Given the description of an element on the screen output the (x, y) to click on. 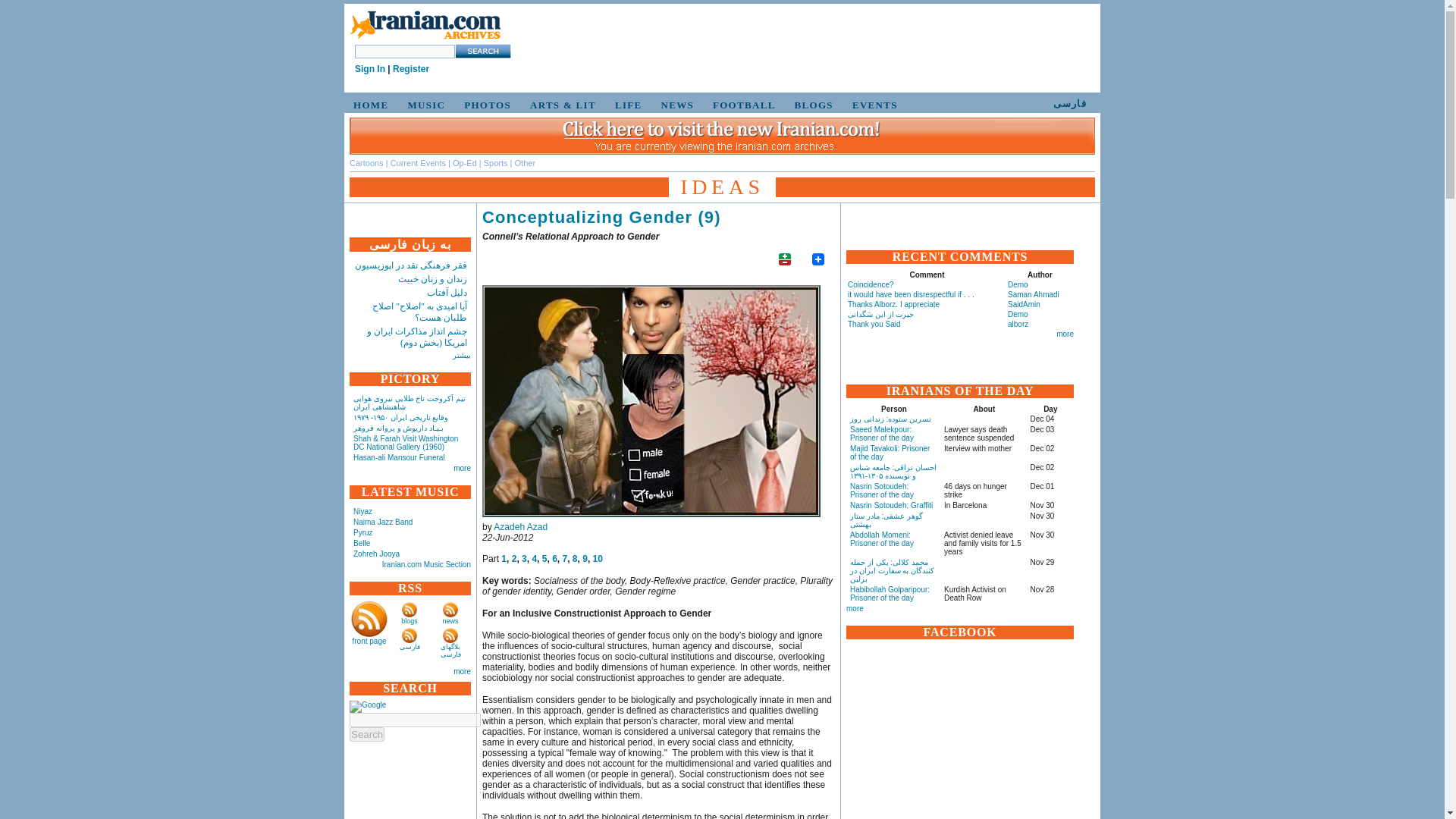
PHOTOS (484, 105)
Sports (495, 162)
FOOTBALL (741, 105)
Belle (361, 542)
Hasan-ali Mansour Funeral (399, 457)
more (461, 468)
Register (411, 68)
Cartoons (366, 162)
View this section (366, 162)
Naima Jazz Band (382, 521)
BLOGS (812, 105)
Pyruz (362, 532)
Search (366, 734)
NEWS (674, 105)
EVENTS (872, 105)
